Given the description of an element on the screen output the (x, y) to click on. 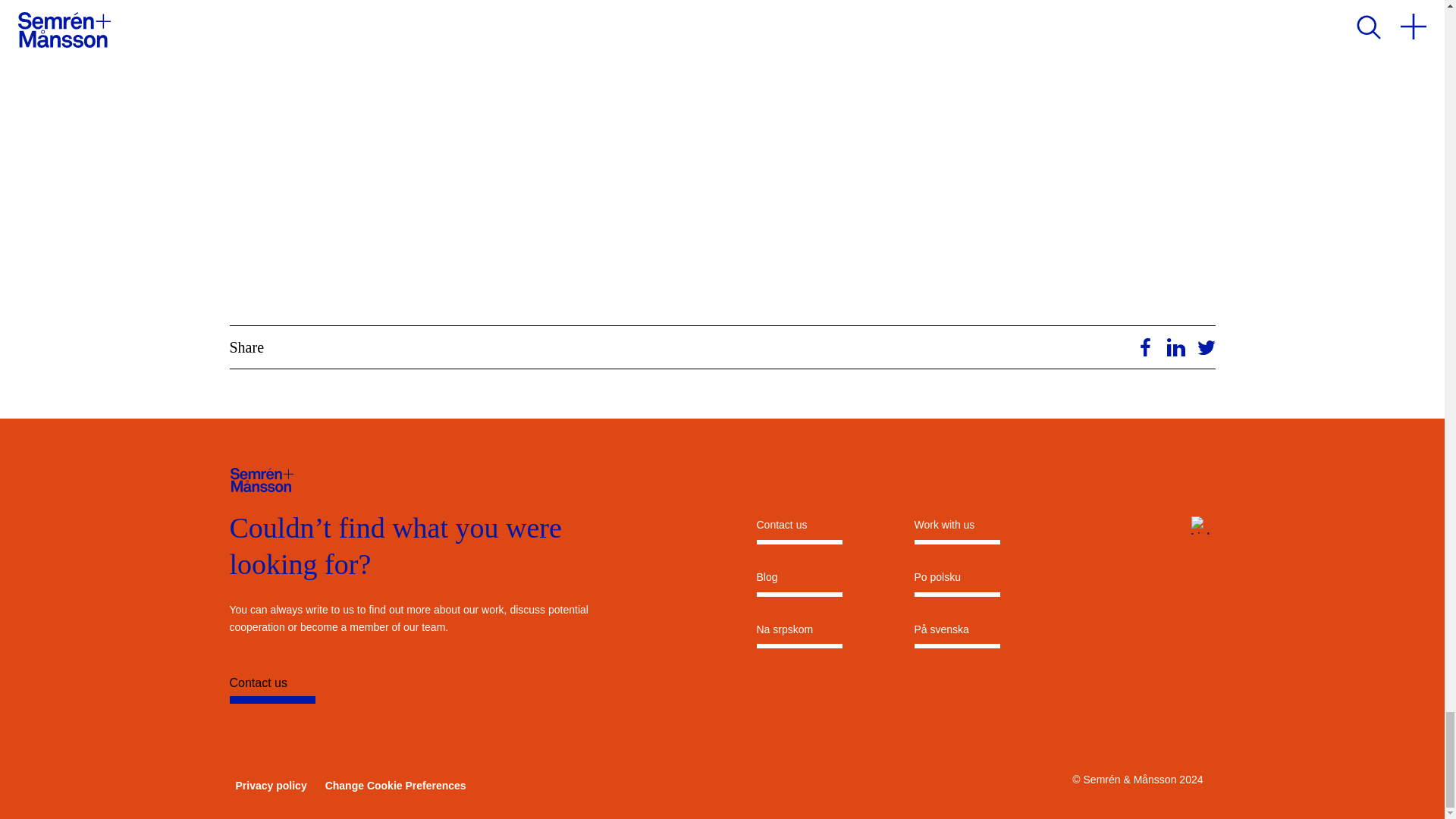
Contact us (358, 689)
Blog (800, 582)
Work with us (957, 530)
Contact us (800, 530)
Change Cookie Preferences (394, 785)
Na srpskom (800, 635)
Privacy policy (269, 785)
Po polsku (957, 582)
